Given the description of an element on the screen output the (x, y) to click on. 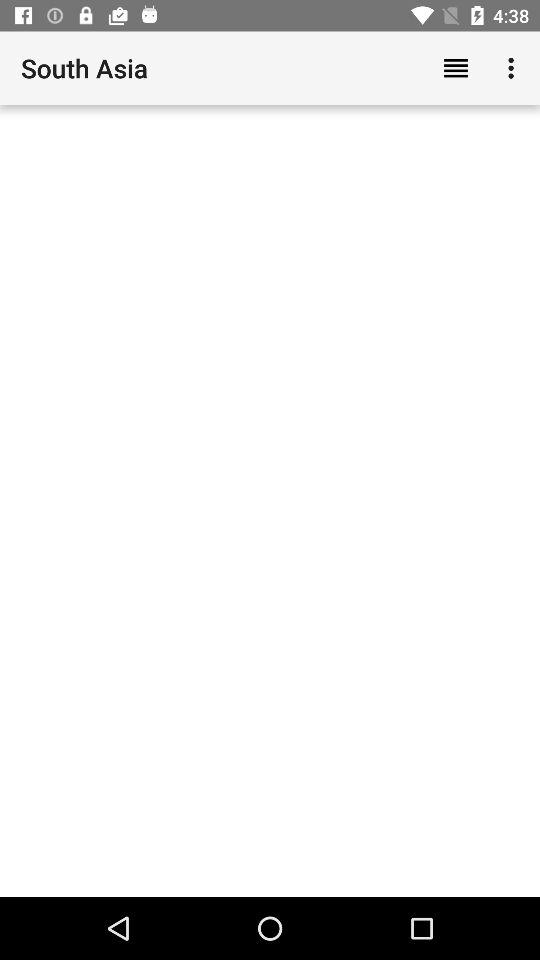
turn off icon to the right of the south asia (455, 67)
